Given the description of an element on the screen output the (x, y) to click on. 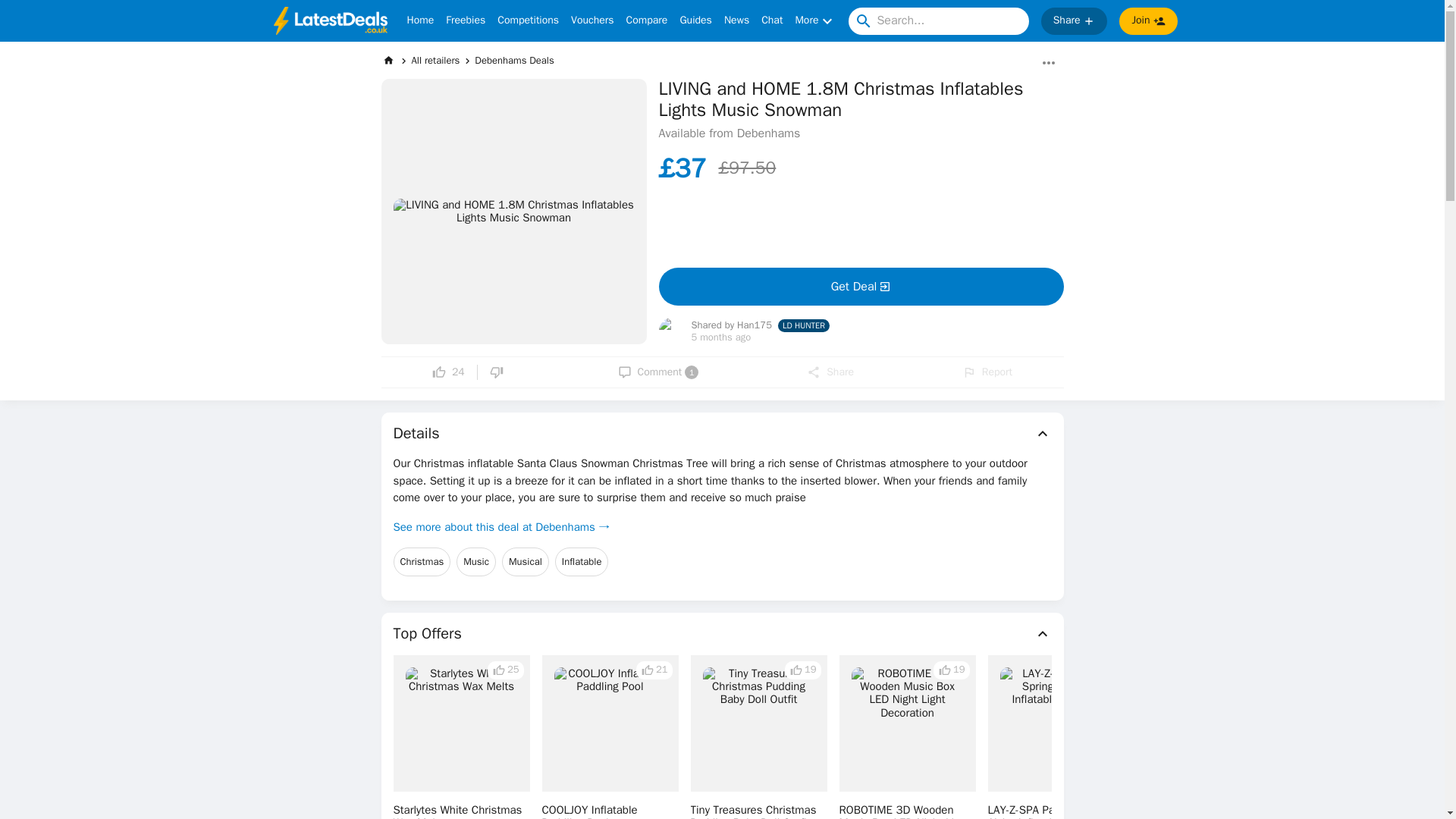
Report (986, 371)
More (814, 21)
Inflatable (581, 561)
Debenhams Deals (513, 60)
Music (476, 561)
Competitions (528, 21)
Share (829, 371)
Compare (647, 21)
Home (419, 21)
24 (448, 372)
See more offers (657, 371)
Vouchers (1329, 755)
Shared by Han175 (591, 21)
Guides (731, 325)
